Given the description of an element on the screen output the (x, y) to click on. 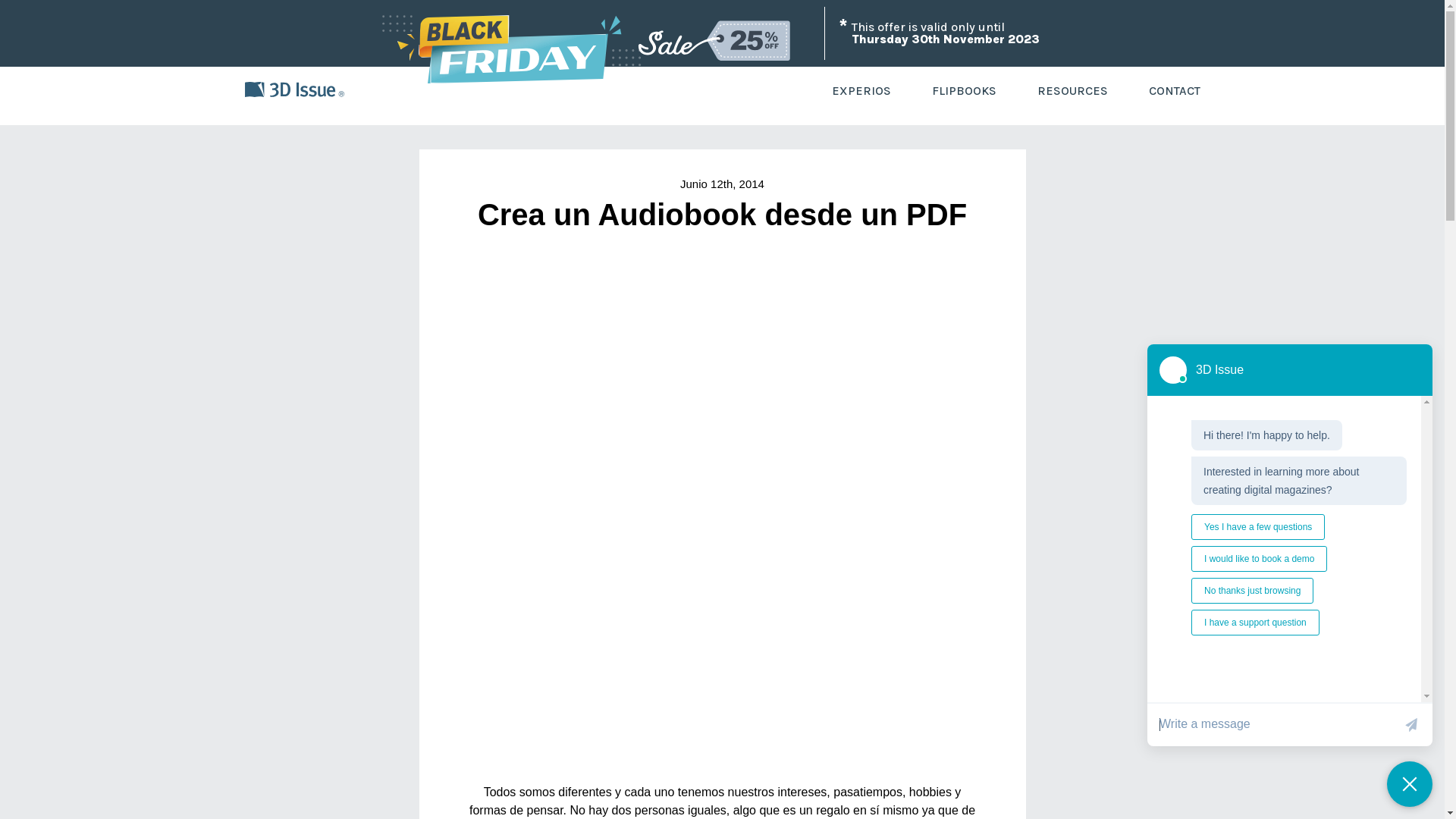
EXPERIOS Element type: text (861, 90)
This offer is valid only until
Thursday 30th November 2023 Element type: text (721, 33)
CONTACT Element type: text (1173, 90)
FLIPBOOKS Element type: text (963, 90)
RESOURCES Element type: text (1072, 90)
